Given the description of an element on the screen output the (x, y) to click on. 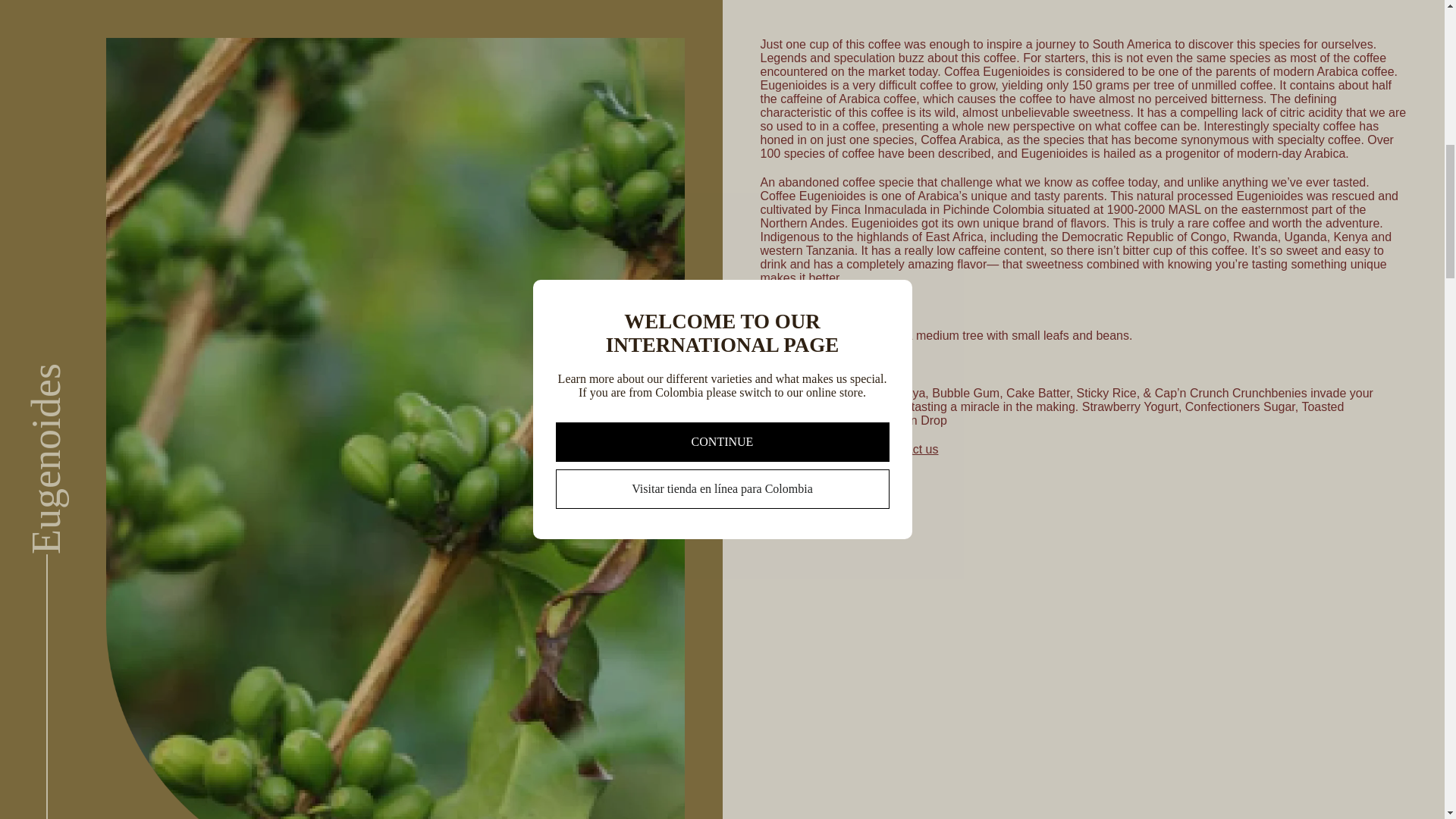
Contact us (908, 449)
Contact Us (908, 449)
